Given the description of an element on the screen output the (x, y) to click on. 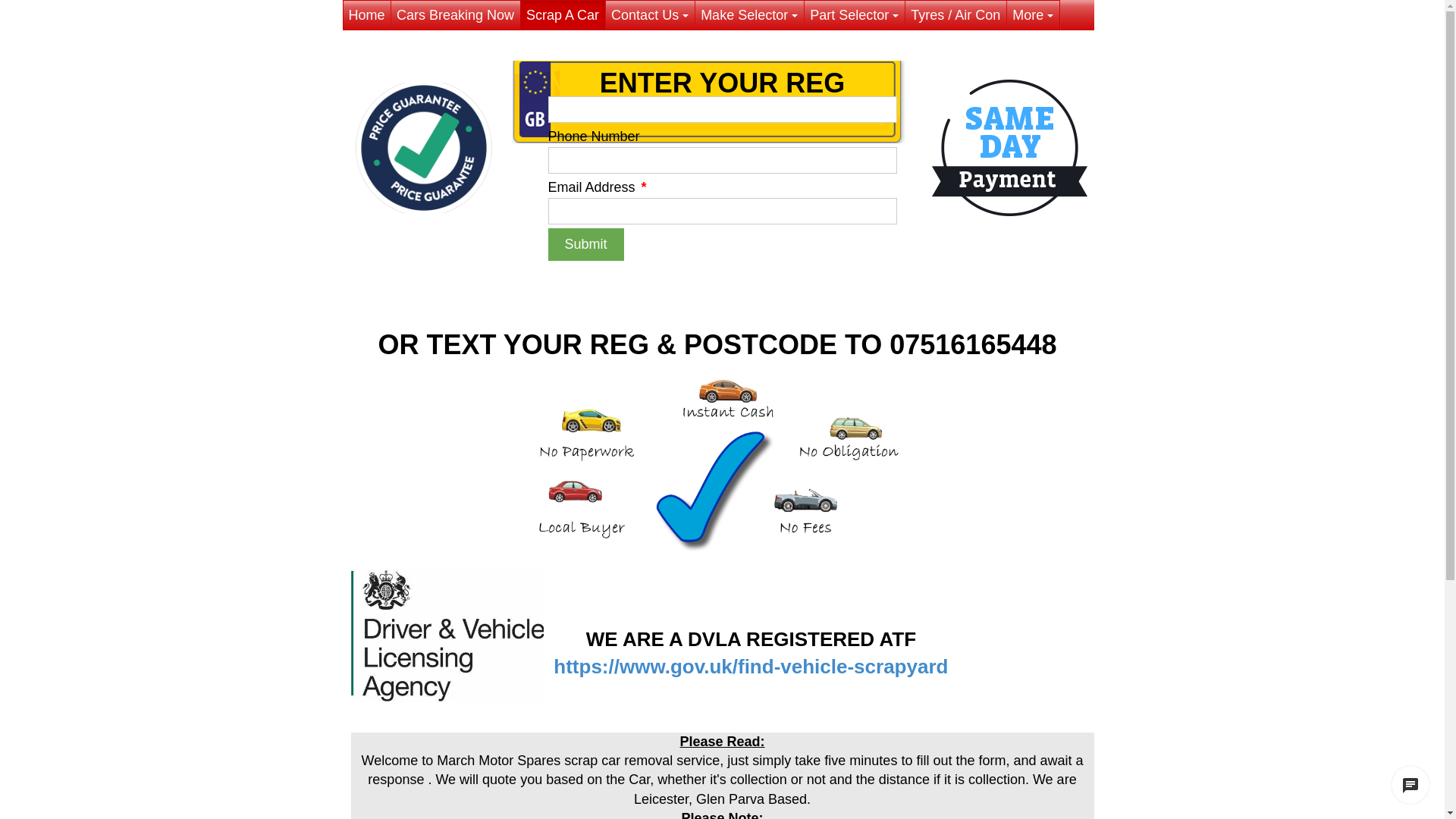
Same Day Payment (1008, 147)
